Given the description of an element on the screen output the (x, y) to click on. 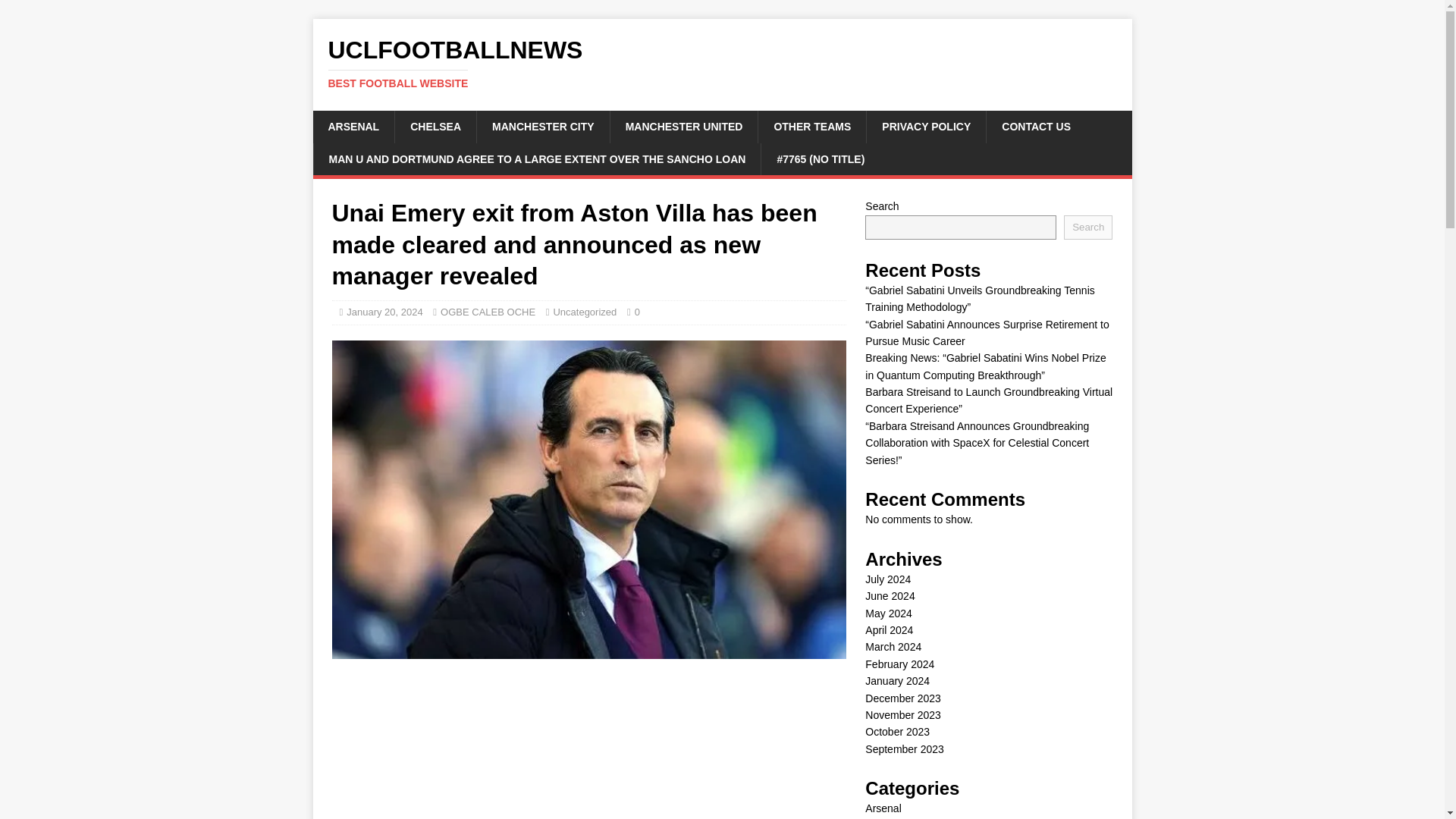
uclfootballnews (721, 63)
July 2024 (887, 579)
January 20, 2024 (721, 63)
June 2024 (384, 311)
CHELSEA (889, 595)
May 2024 (435, 126)
MANCHESTER UNITED (887, 613)
MANCHESTER CITY (684, 126)
Uncategorized (543, 126)
CONTACT US (584, 311)
ARSENAL (1035, 126)
OGBE CALEB OCHE (353, 126)
PRIVACY POLICY (488, 311)
